Given the description of an element on the screen output the (x, y) to click on. 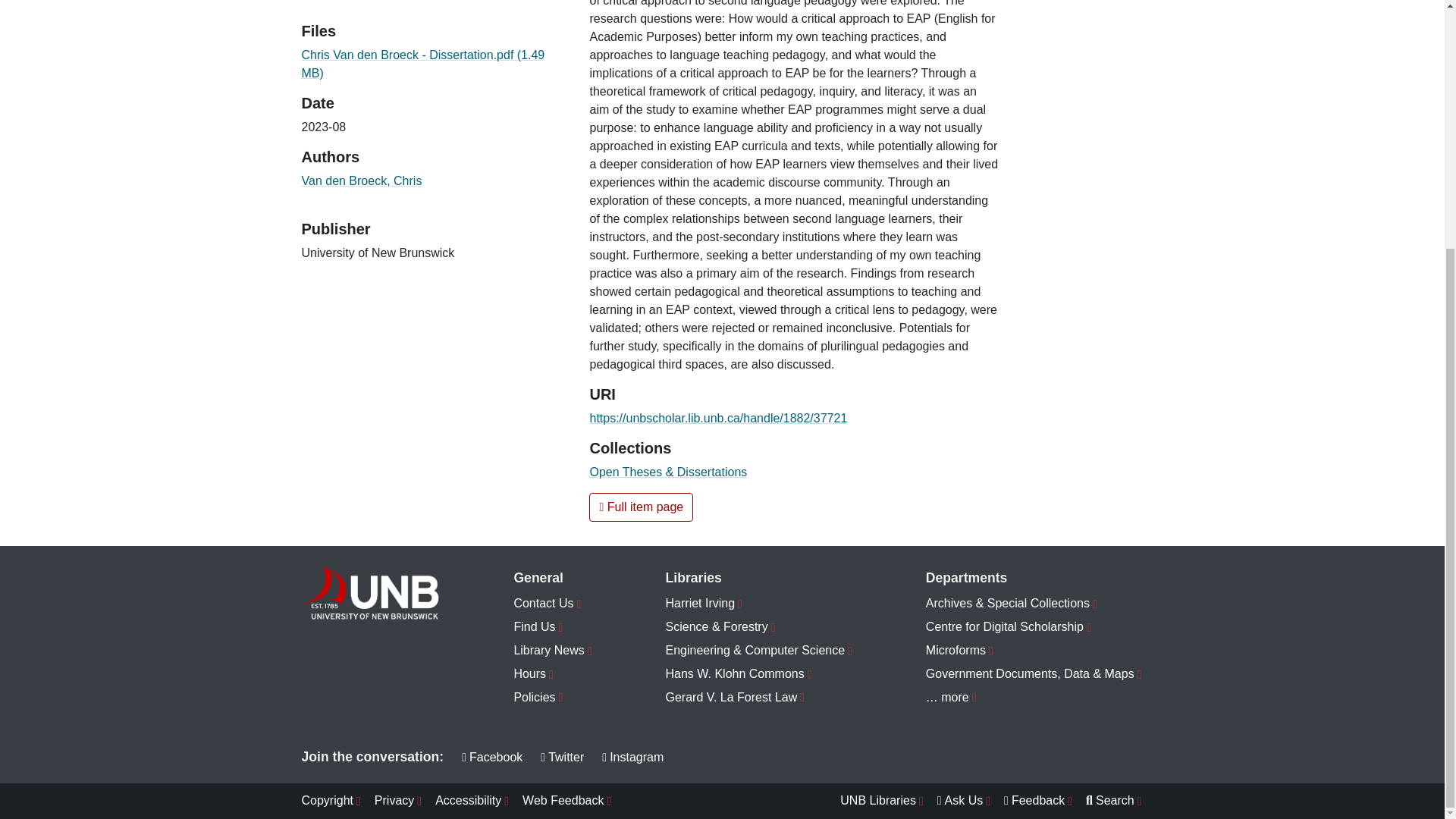
Facebook (491, 757)
Microforms (1034, 650)
Harriet Irving (759, 603)
Hours (552, 674)
Find Us (552, 627)
Contact Us (552, 603)
Gerard V. La Forest Law (759, 698)
Van den Broeck, Chris (361, 180)
Twitter (561, 757)
Full item page (641, 507)
